Given the description of an element on the screen output the (x, y) to click on. 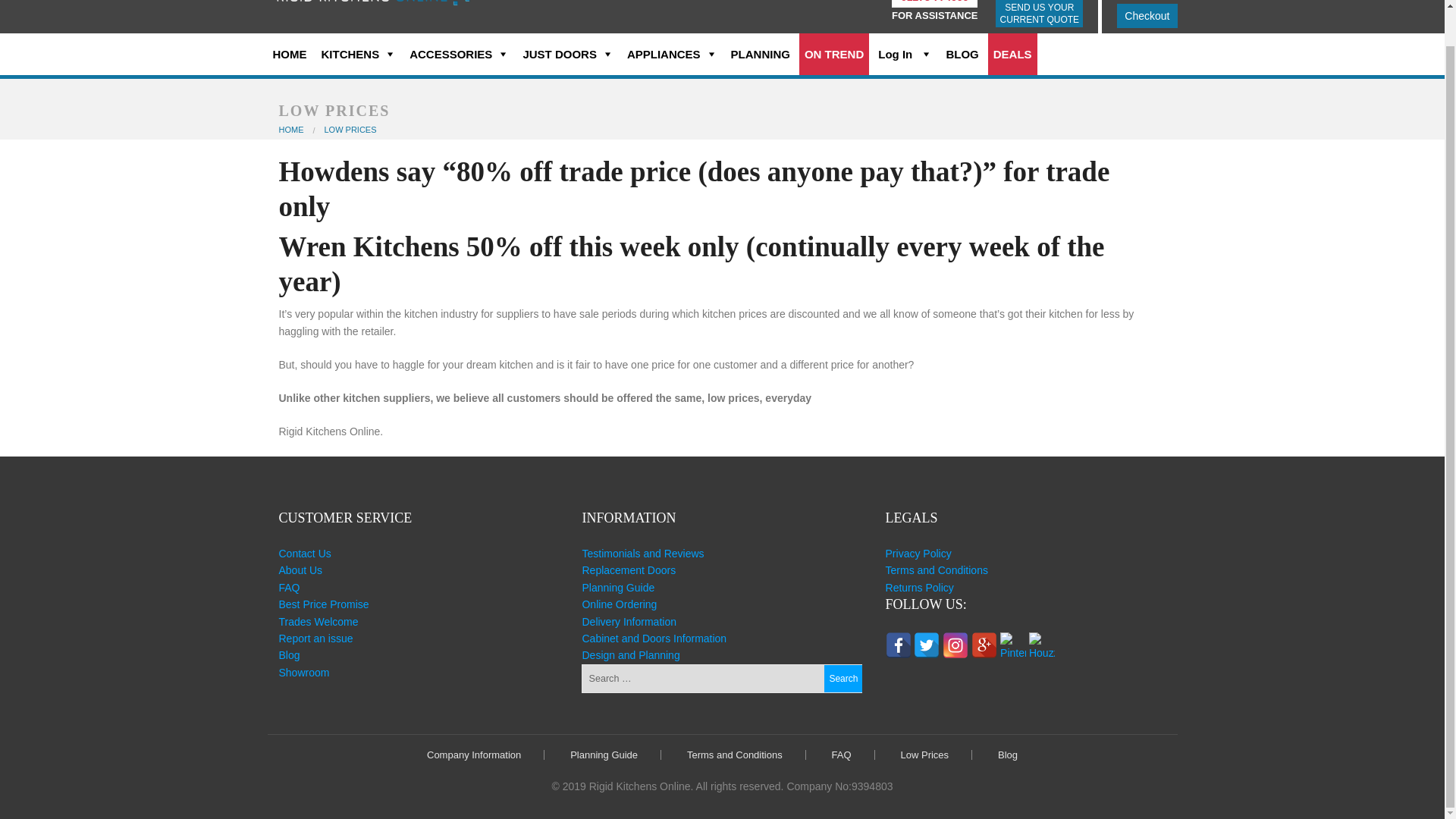
Facebook (898, 640)
Pinterest (1013, 640)
SEND US YOUR CURRENT QUOTE (1039, 13)
Twitter (926, 640)
Houzz (1041, 640)
Rigid Kitchens Online (374, 6)
Go to Rigid Kitchens Online. (291, 129)
Search (842, 678)
Instagram (955, 640)
